Given the description of an element on the screen output the (x, y) to click on. 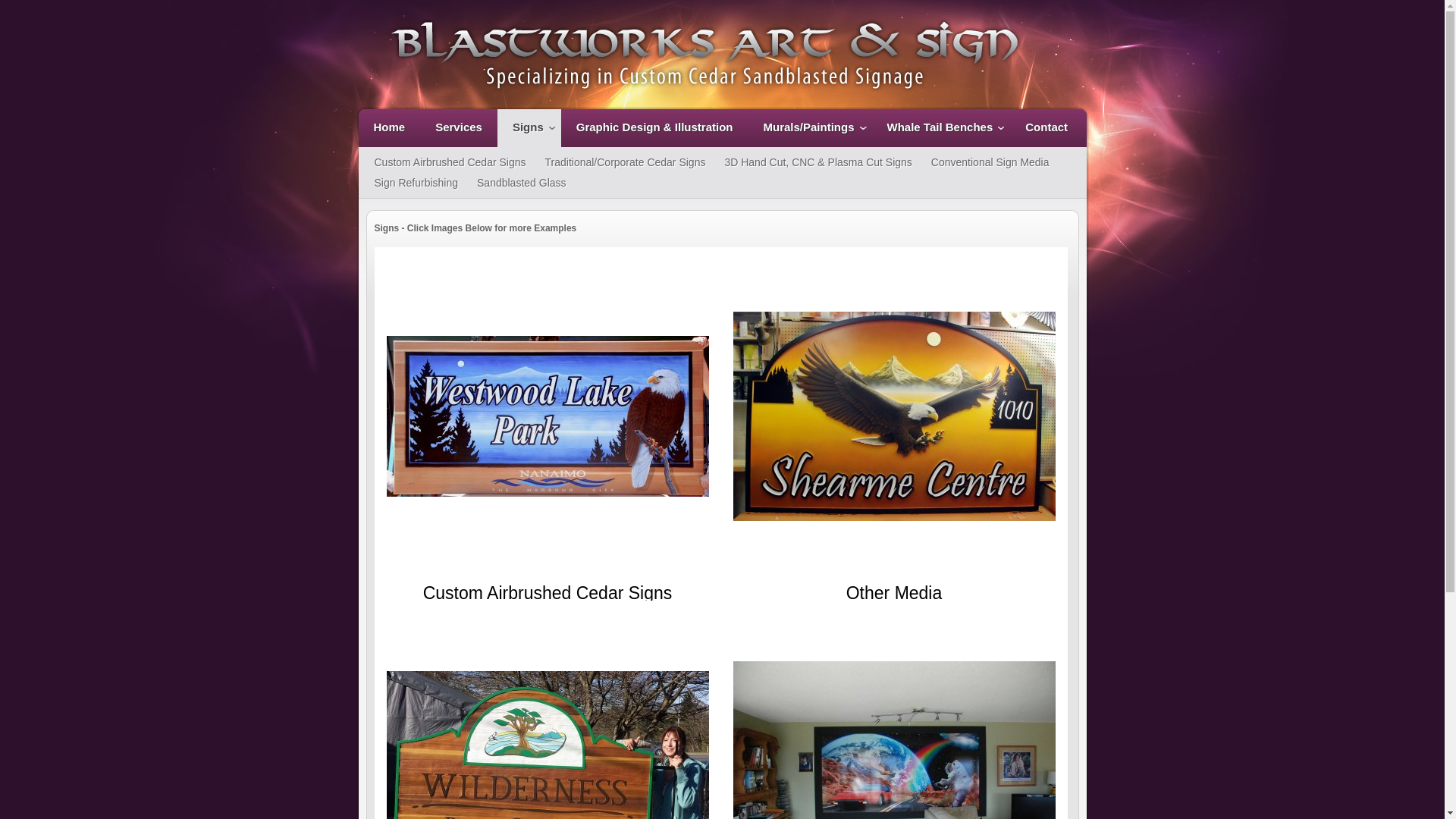
Sandblasted Glass Element type: text (521, 182)
Conventional Sign Media Element type: text (990, 162)
Graphic Design & Illustration Element type: text (654, 128)
Contact Element type: text (1046, 128)
Home Element type: text (388, 128)
Sign Refurbishing Element type: text (415, 182)
Murals/Paintings Element type: text (809, 128)
3D Hand Cut, CNC & Plasma Cut Signs Element type: text (817, 162)
Whale Tail Benches Element type: text (941, 128)
Traditional/Corporate Cedar Signs Element type: text (625, 162)
Custom Airbrushed Cedar Signs Element type: text (449, 162)
Signs Element type: text (529, 128)
Services Element type: text (458, 128)
